Given the description of an element on the screen output the (x, y) to click on. 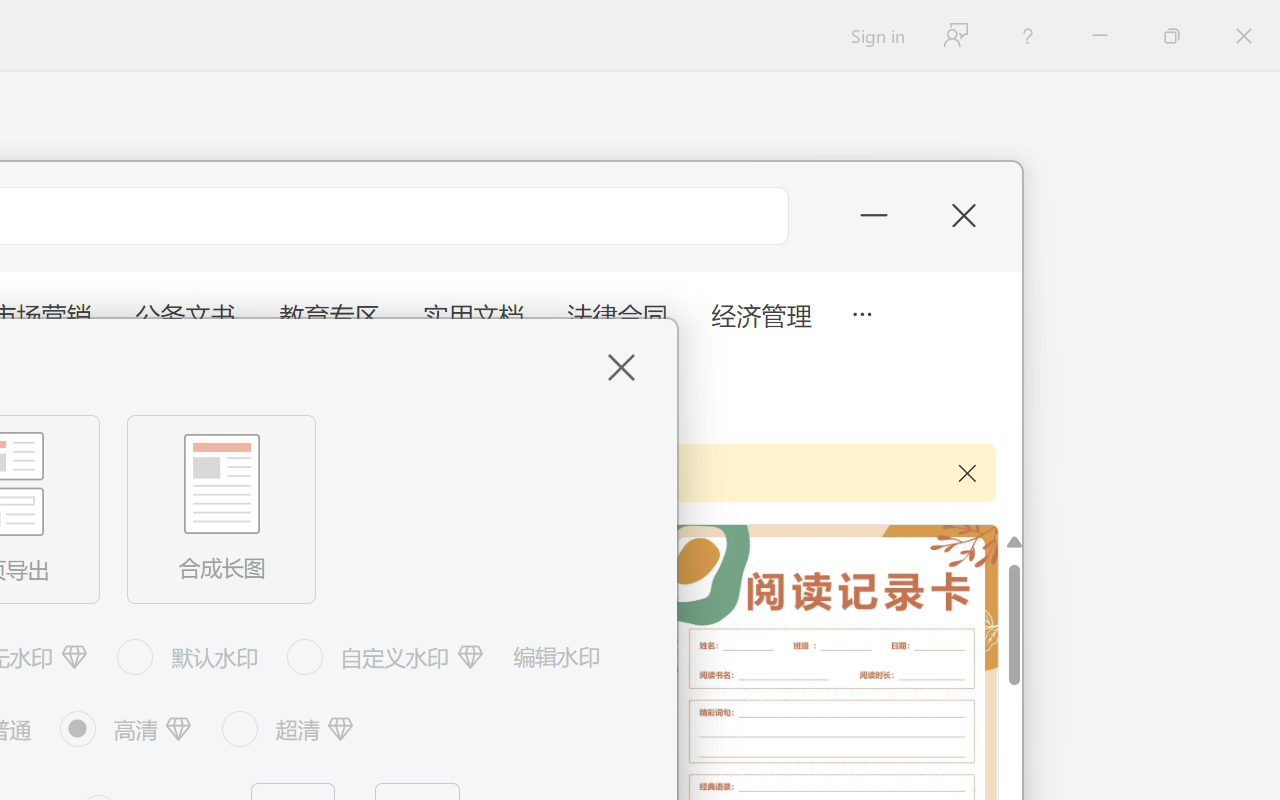
5 more tabs (861, 312)
Sign in (875, 35)
